Given the description of an element on the screen output the (x, y) to click on. 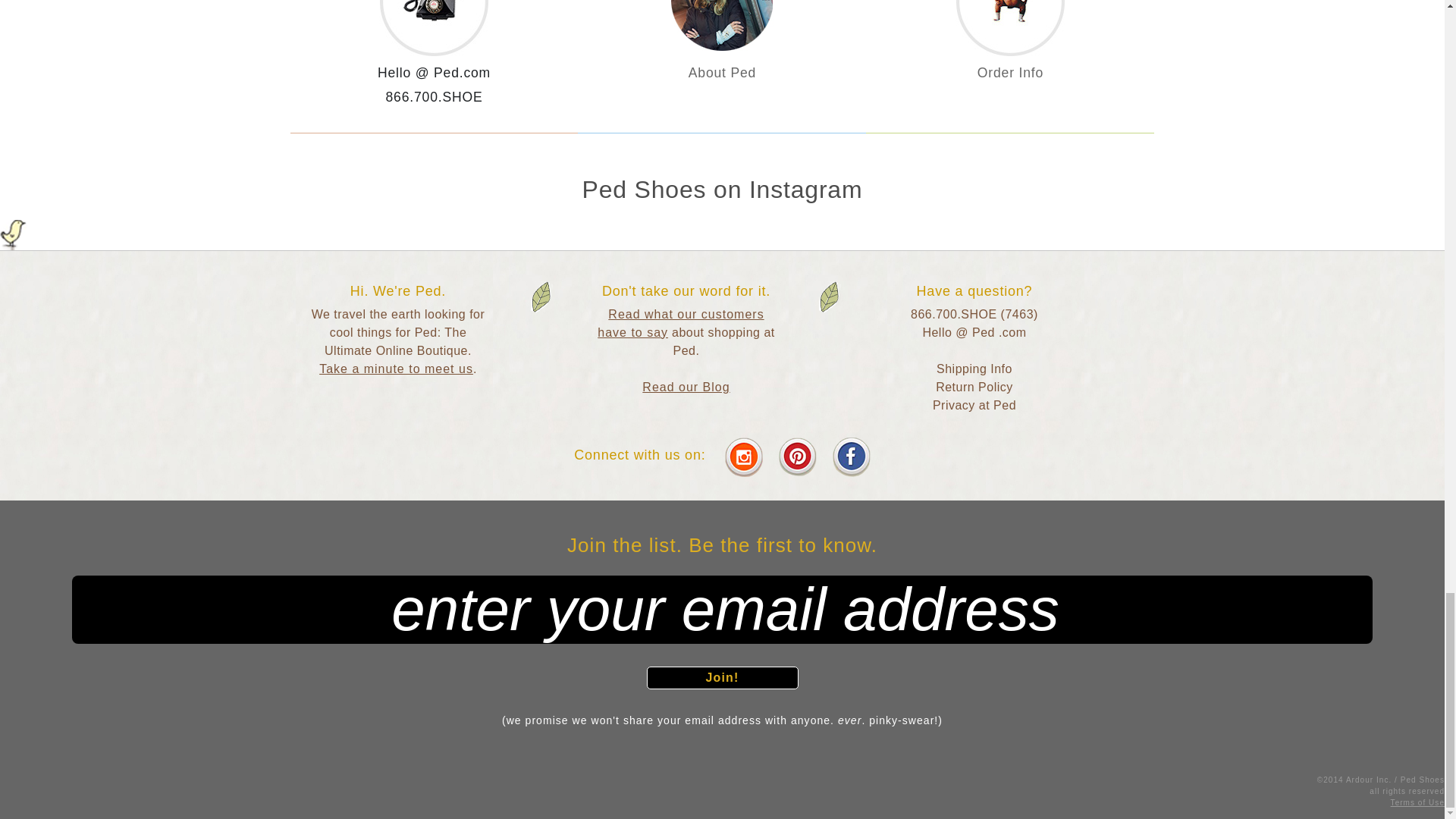
enter your email address (722, 609)
